Given the description of an element on the screen output the (x, y) to click on. 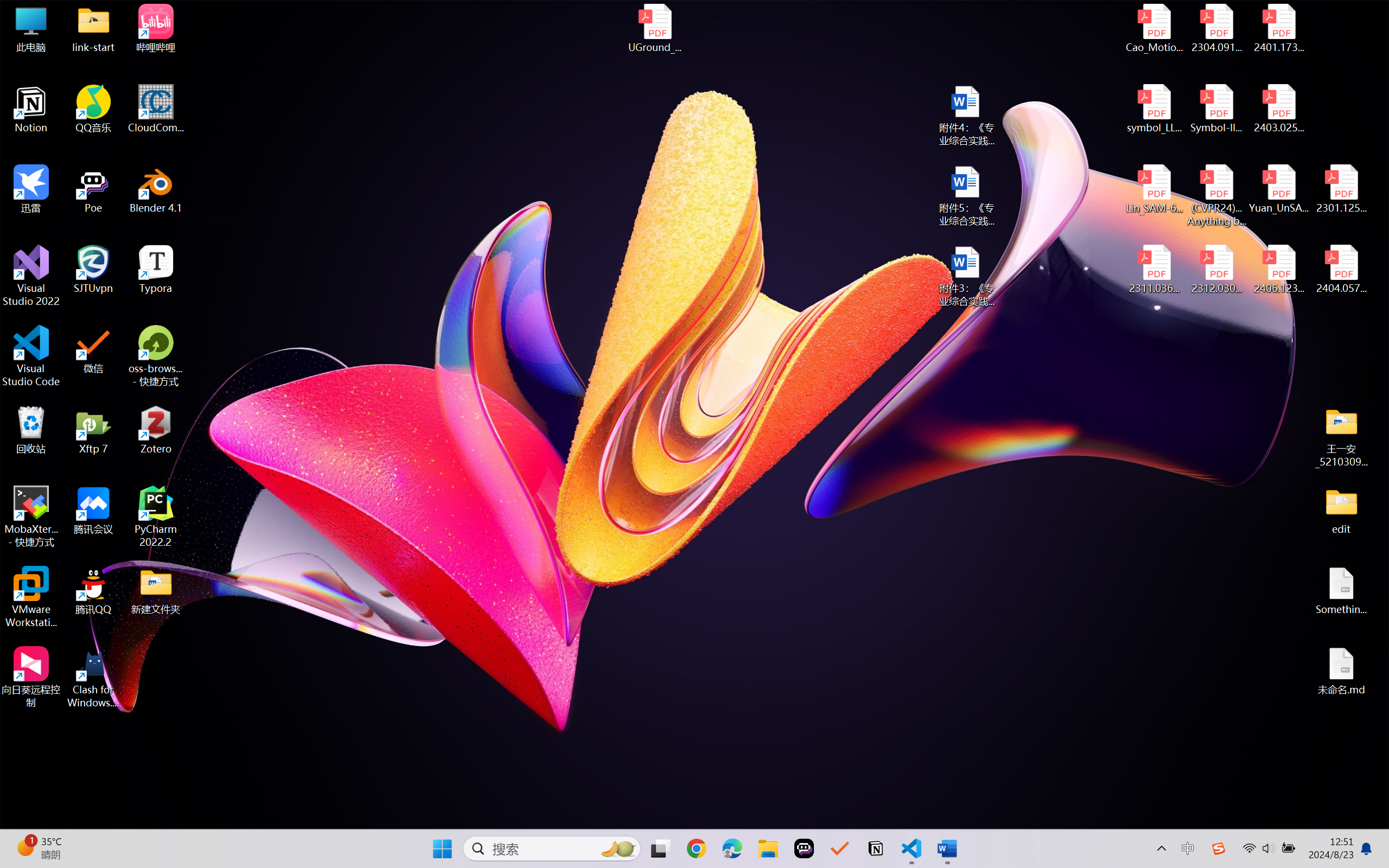
Visual Studio 2022 (31, 276)
Microsoft Edge (731, 848)
2312.03032v2.pdf (1216, 269)
(CVPR24)Matching Anything by Segmenting Anything.pdf (1216, 195)
VMware Workstation Pro (31, 597)
